Given the description of an element on the screen output the (x, y) to click on. 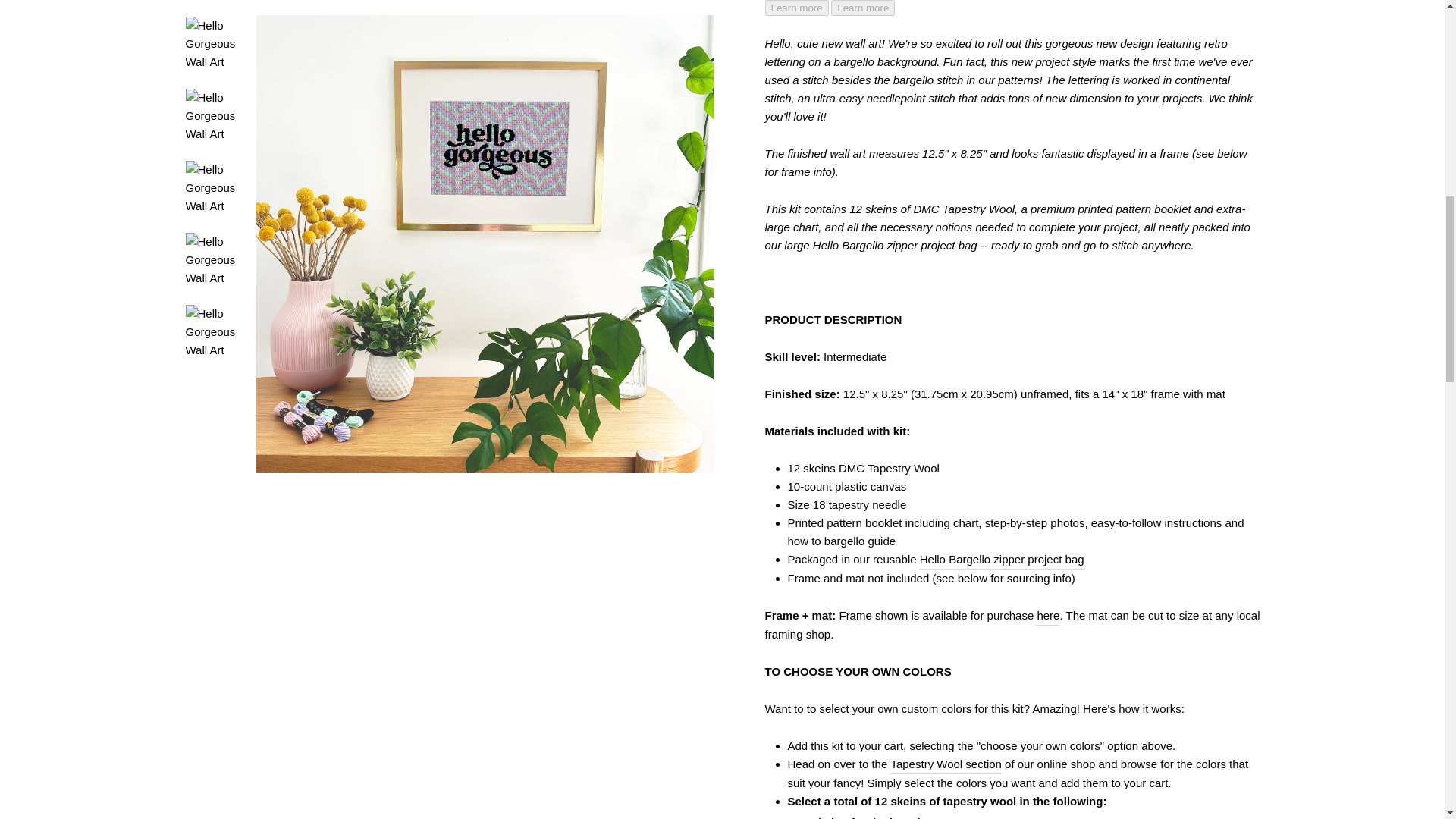
Shop DMC Tapestry Wool for Hello Bargello Needlepoint (945, 764)
